Given the description of an element on the screen output the (x, y) to click on. 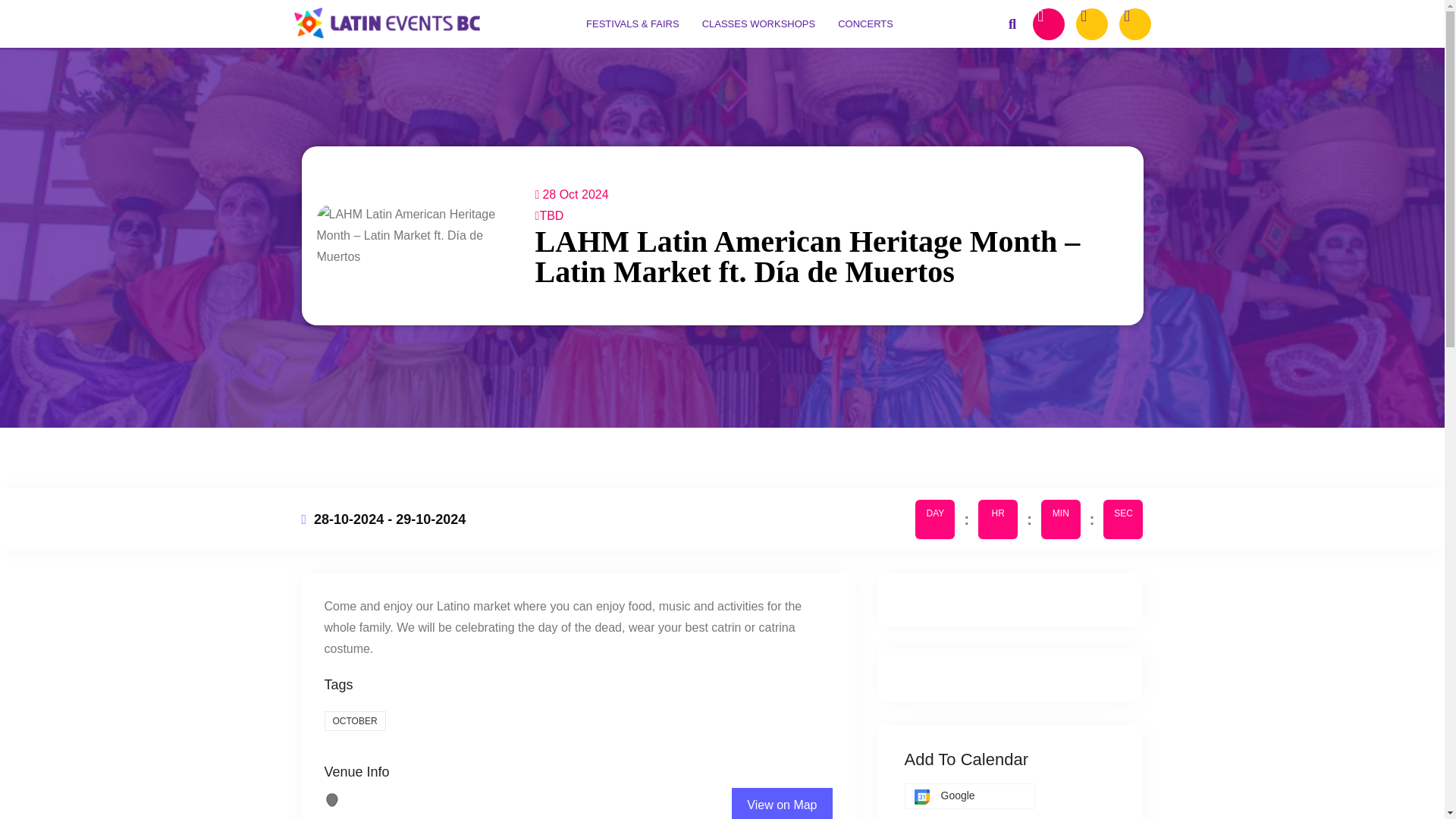
OCTOBER (354, 721)
CONCERTS (865, 23)
View on Map (781, 803)
CLASSES WORKSHOPS (758, 23)
Google (968, 795)
